Given the description of an element on the screen output the (x, y) to click on. 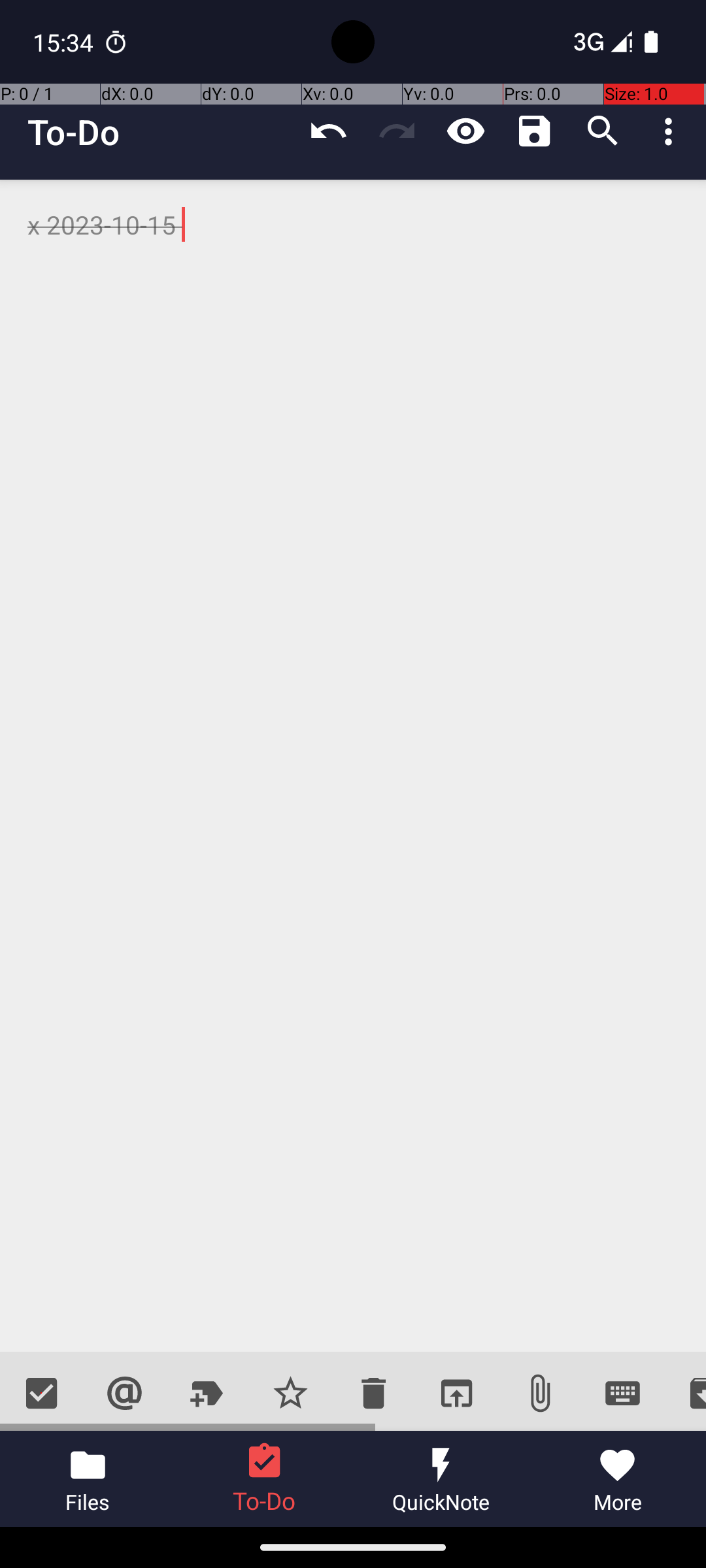
x 2023-10-15  Element type: android.widget.EditText (353, 765)
